Given the description of an element on the screen output the (x, y) to click on. 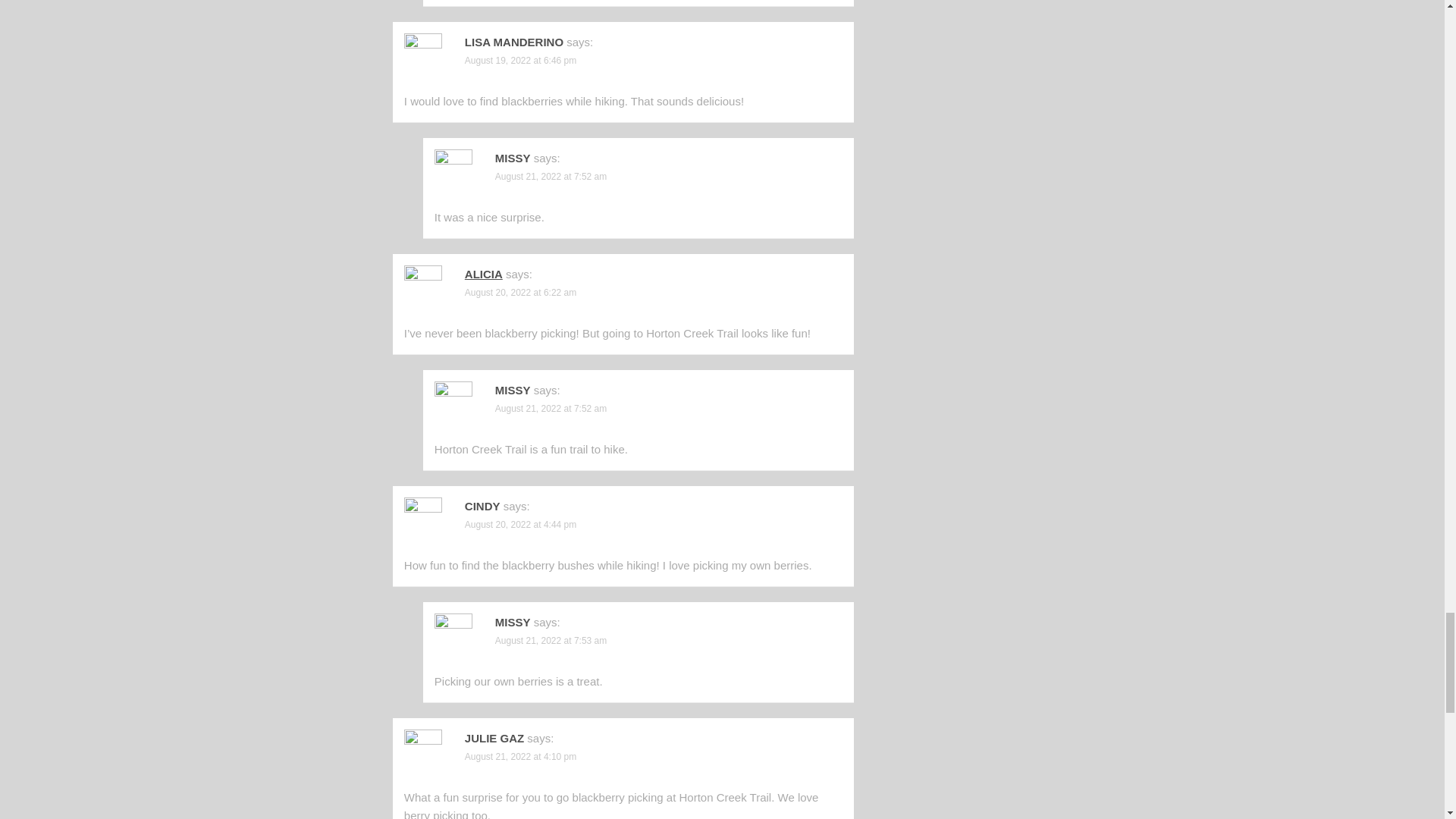
August 21, 2022 at 7:52 am (551, 408)
August 21, 2022 at 4:10 pm (520, 756)
August 21, 2022 at 7:53 am (551, 640)
August 20, 2022 at 4:44 pm (520, 524)
ALICIA (483, 273)
August 19, 2022 at 6:46 pm (520, 60)
August 20, 2022 at 6:22 am (520, 292)
August 21, 2022 at 7:52 am (551, 176)
